Given the description of an element on the screen output the (x, y) to click on. 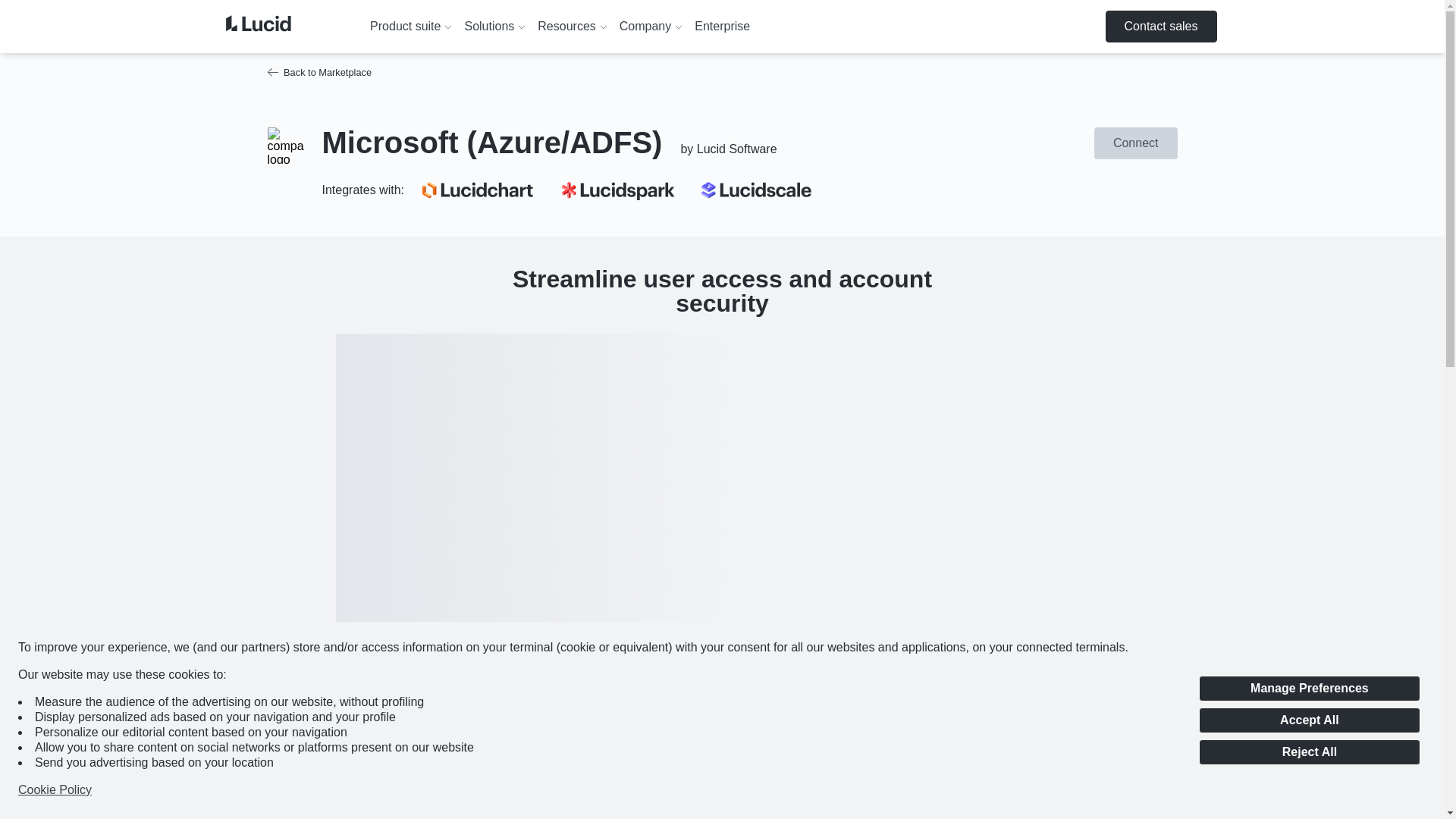
Solutions (494, 26)
Accept All (1309, 720)
Manage Preferences (1309, 688)
Reject All (1309, 751)
Product suite (411, 26)
Resources (571, 26)
Cookie Policy (54, 789)
